Given the description of an element on the screen output the (x, y) to click on. 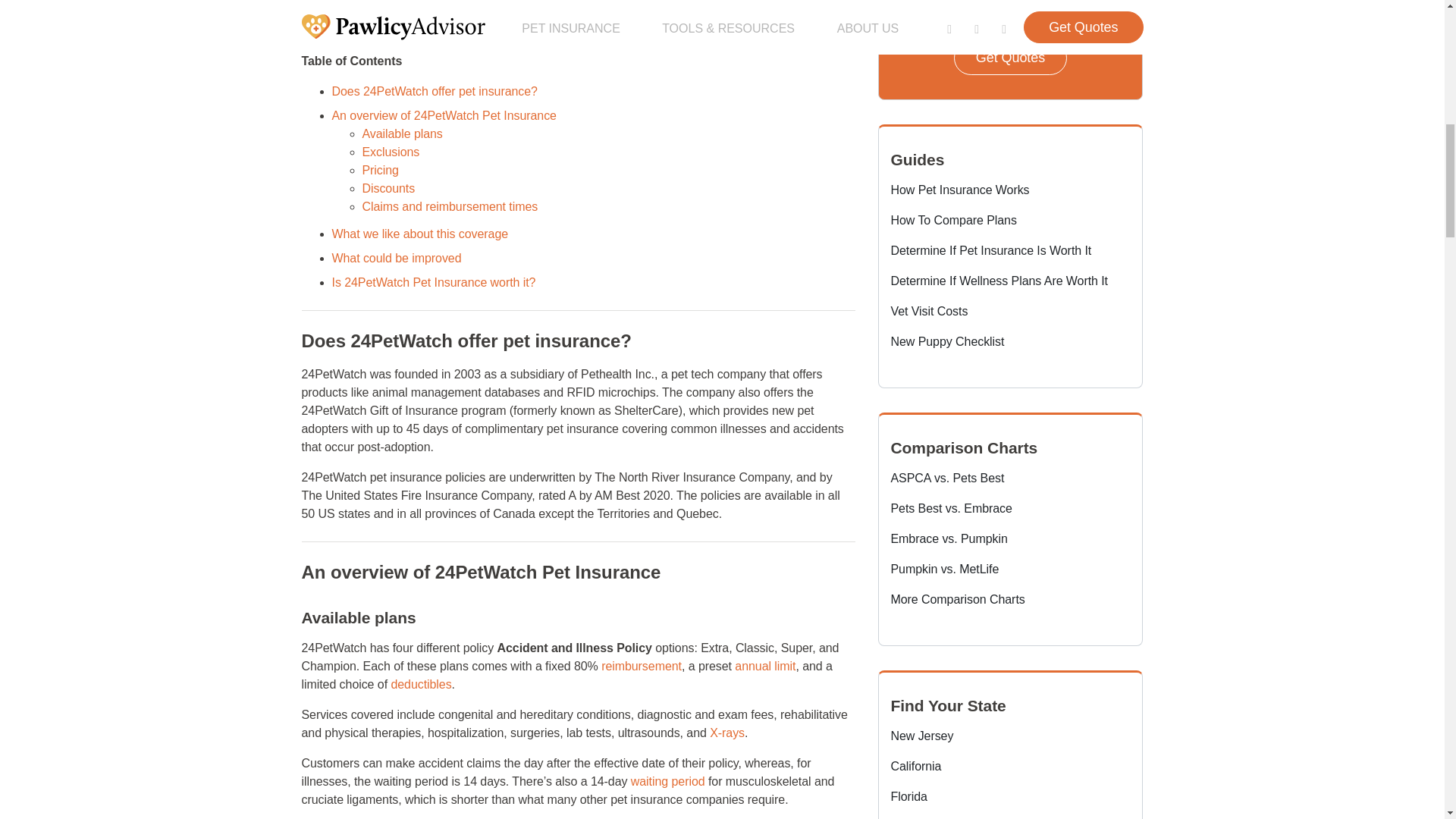
X-rays (727, 732)
Pricing (380, 169)
An overview of 24PetWatch Pet Insurance (443, 115)
Is 24PetWatch Pet Insurance worth it? (433, 282)
deductibles (420, 684)
How Pet Insurance Works (959, 189)
What could be improved (396, 257)
Available plans (402, 133)
Exclusions (391, 151)
annual limit (764, 666)
